Given the description of an element on the screen output the (x, y) to click on. 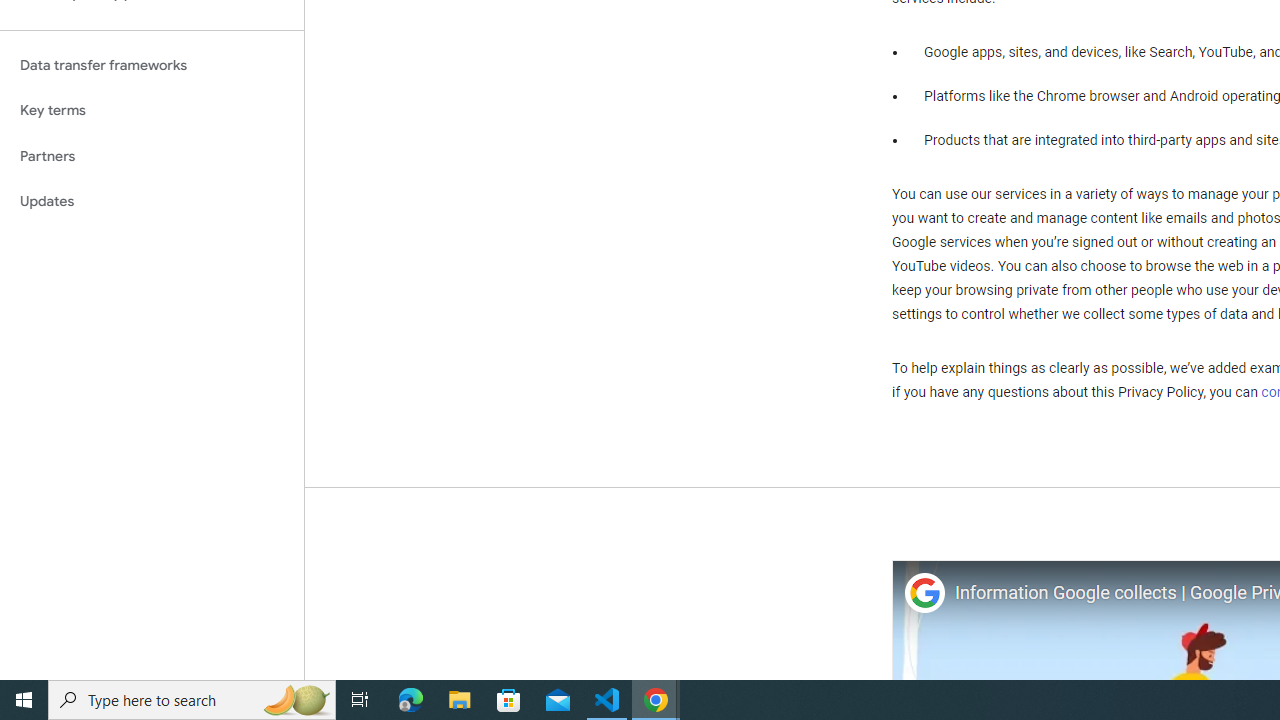
Photo image of Google (924, 593)
